Given the description of an element on the screen output the (x, y) to click on. 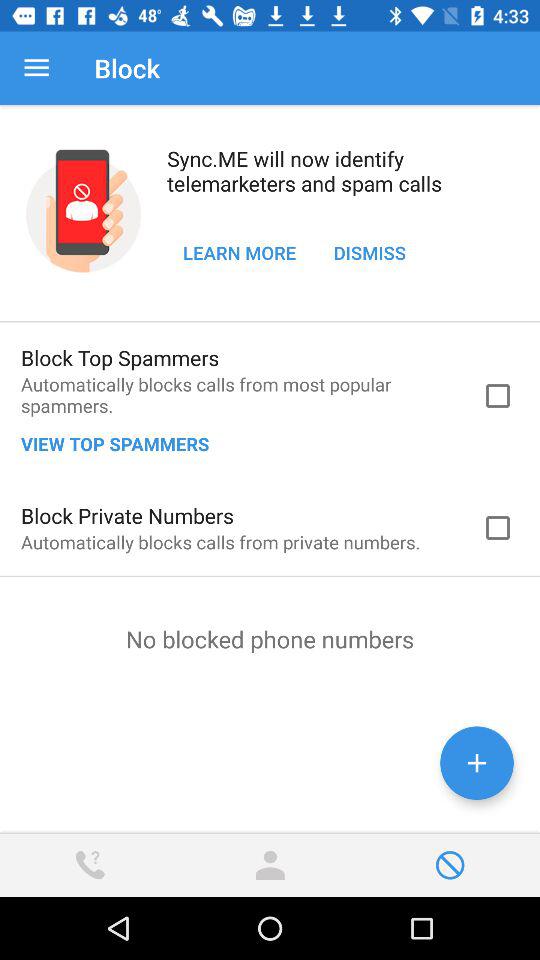
press the dismiss icon (369, 252)
